Given the description of an element on the screen output the (x, y) to click on. 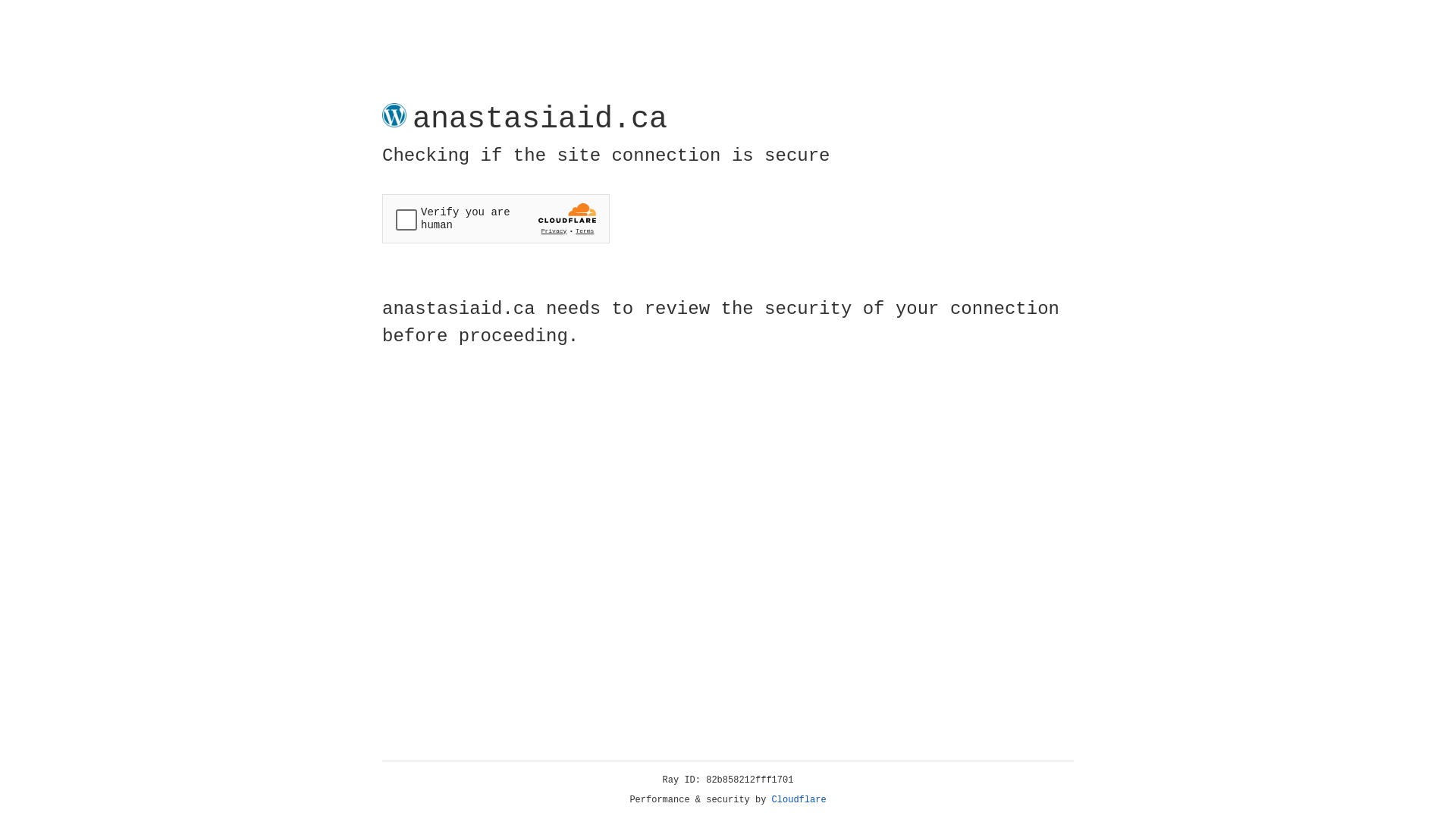
Widget containing a Cloudflare security challenge Element type: hover (495, 218)
Cloudflare Element type: text (798, 799)
